Given the description of an element on the screen output the (x, y) to click on. 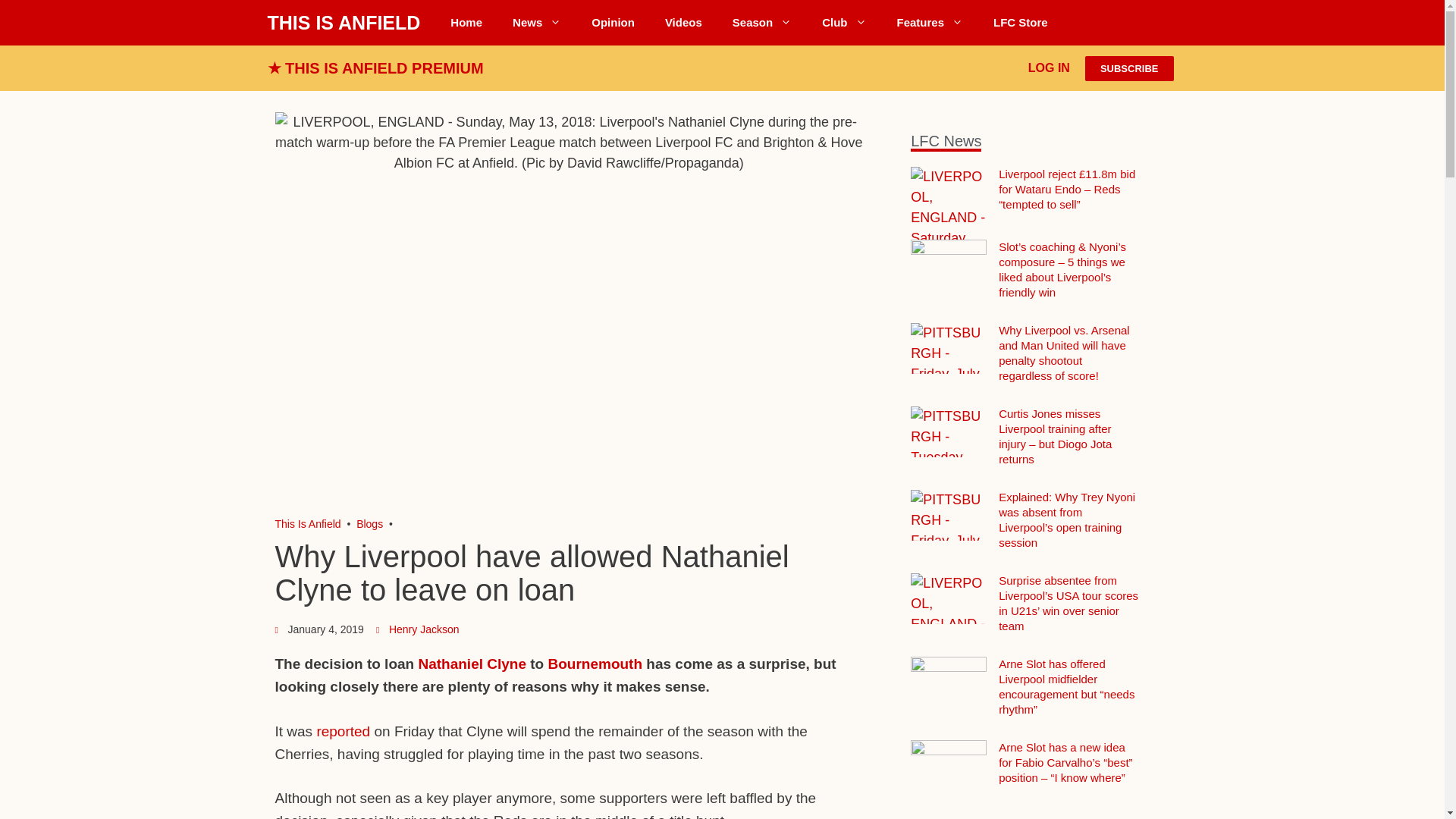
Go to the Blogs category archives. (369, 523)
Club (843, 22)
Features (929, 22)
Liverpool FC Features (929, 22)
Opinion (612, 22)
Liverpool FC Opinion (612, 22)
Liverpool FC (307, 523)
Season (761, 22)
Home (466, 22)
THIS IS ANFIELD (343, 22)
Liverpool FC News (536, 22)
Liverpool FC Videos (683, 22)
News (536, 22)
Videos (683, 22)
